Given the description of an element on the screen output the (x, y) to click on. 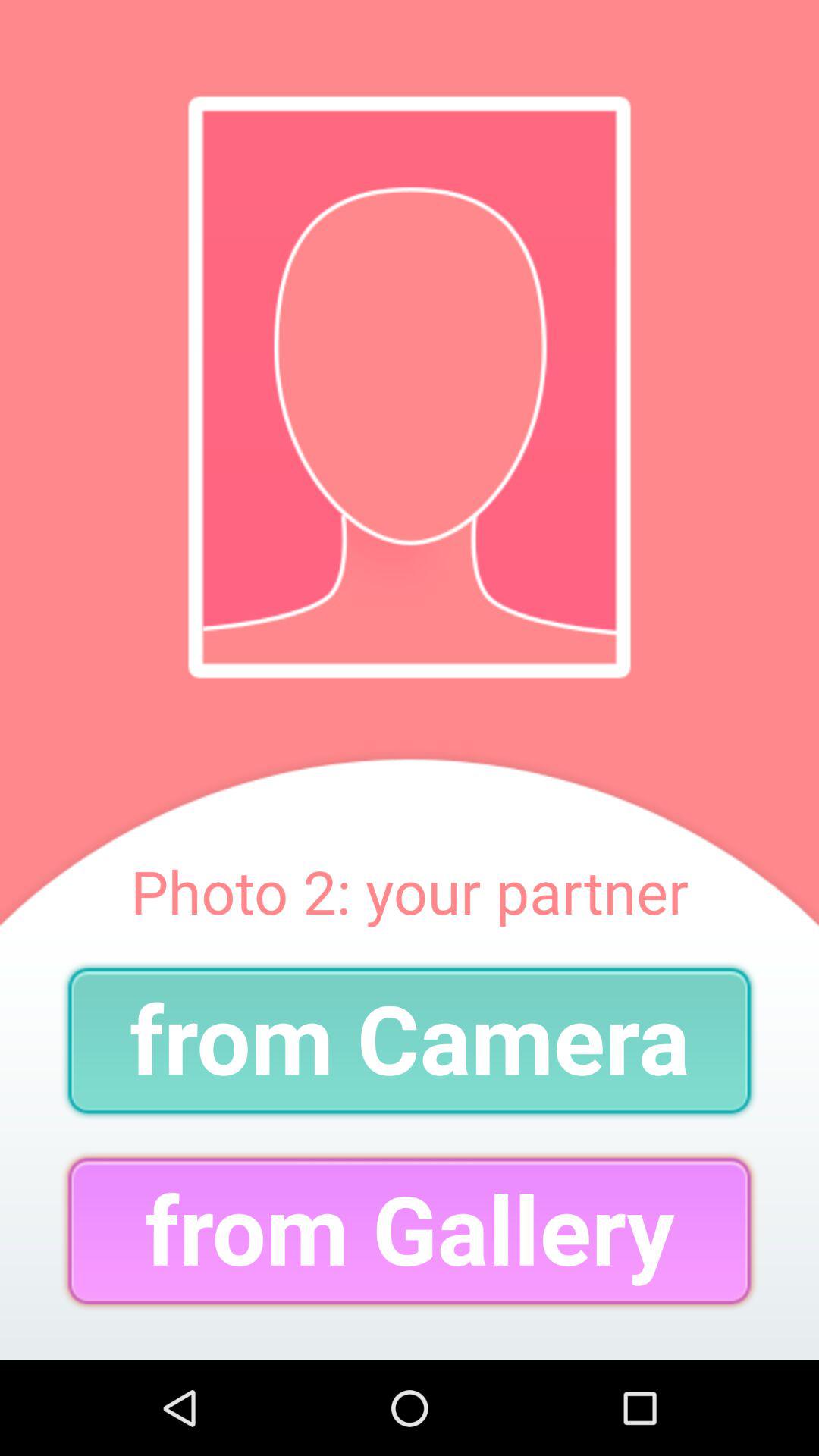
press the from camera item (409, 1040)
